Given the description of an element on the screen output the (x, y) to click on. 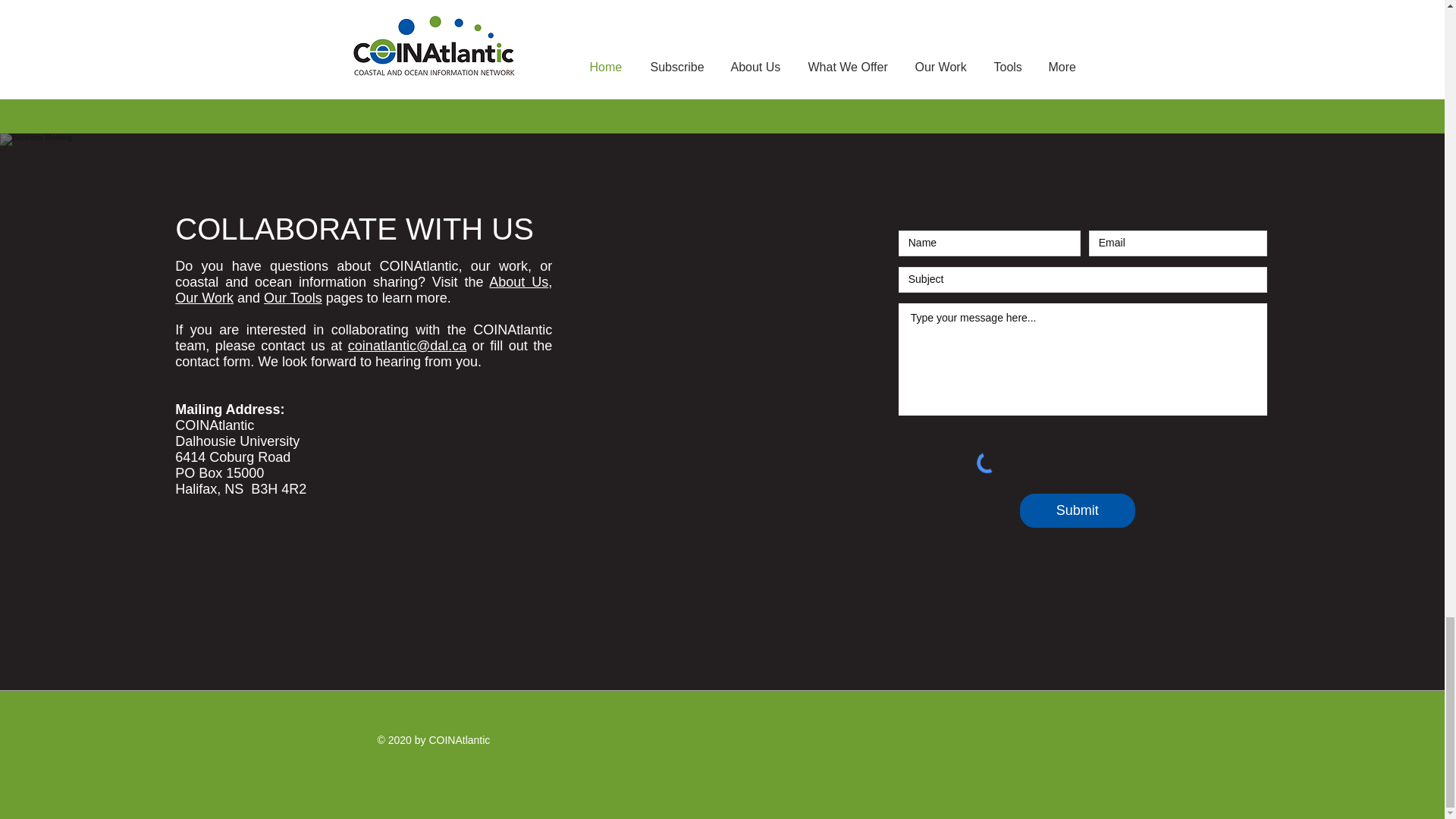
Our Tools (292, 297)
Subscribe (1021, 21)
About Us (518, 281)
Submit (1077, 510)
Our Work (203, 297)
